Given the description of an element on the screen output the (x, y) to click on. 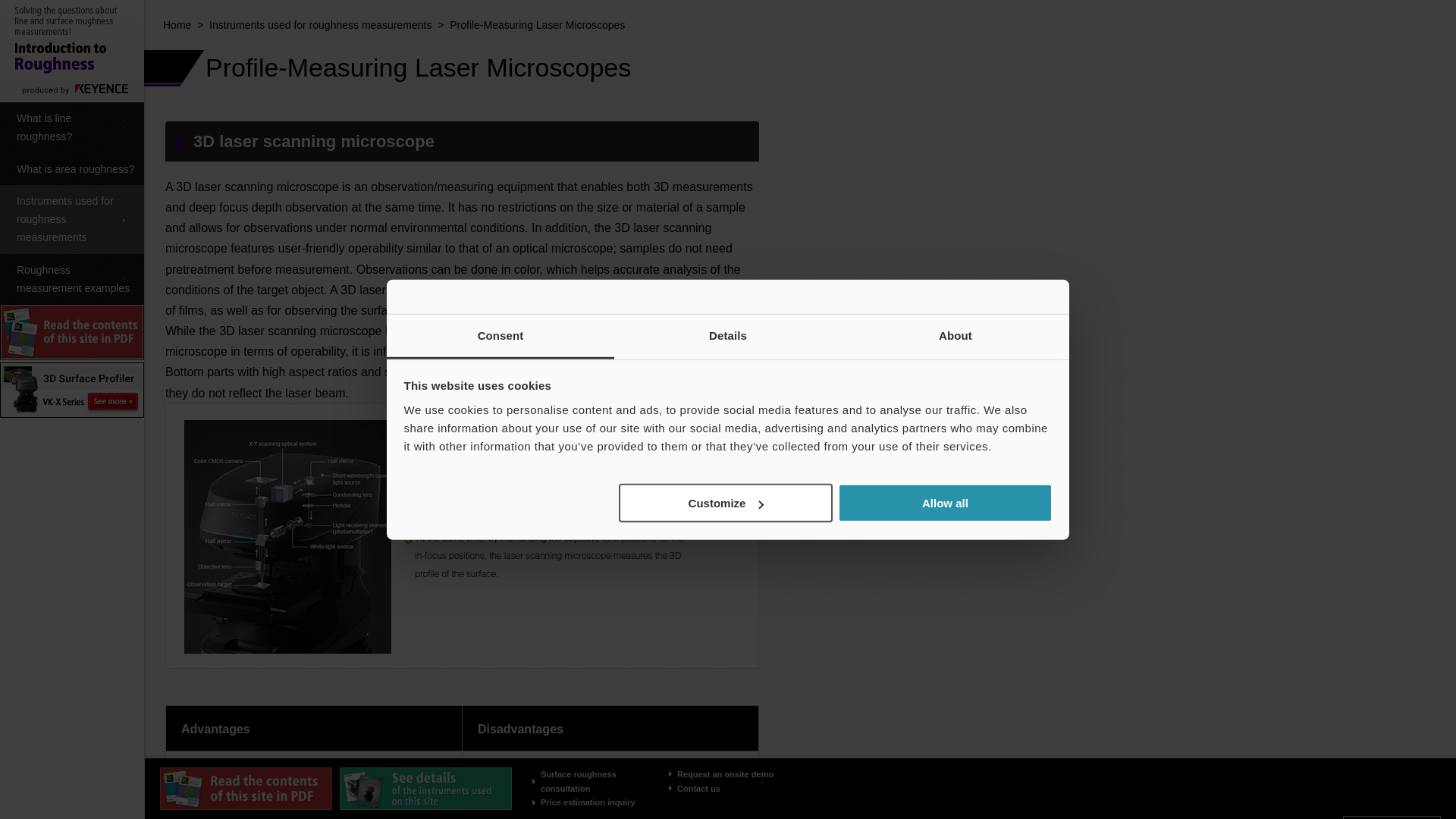
Consent (500, 336)
About (954, 336)
Details (727, 336)
